Given the description of an element on the screen output the (x, y) to click on. 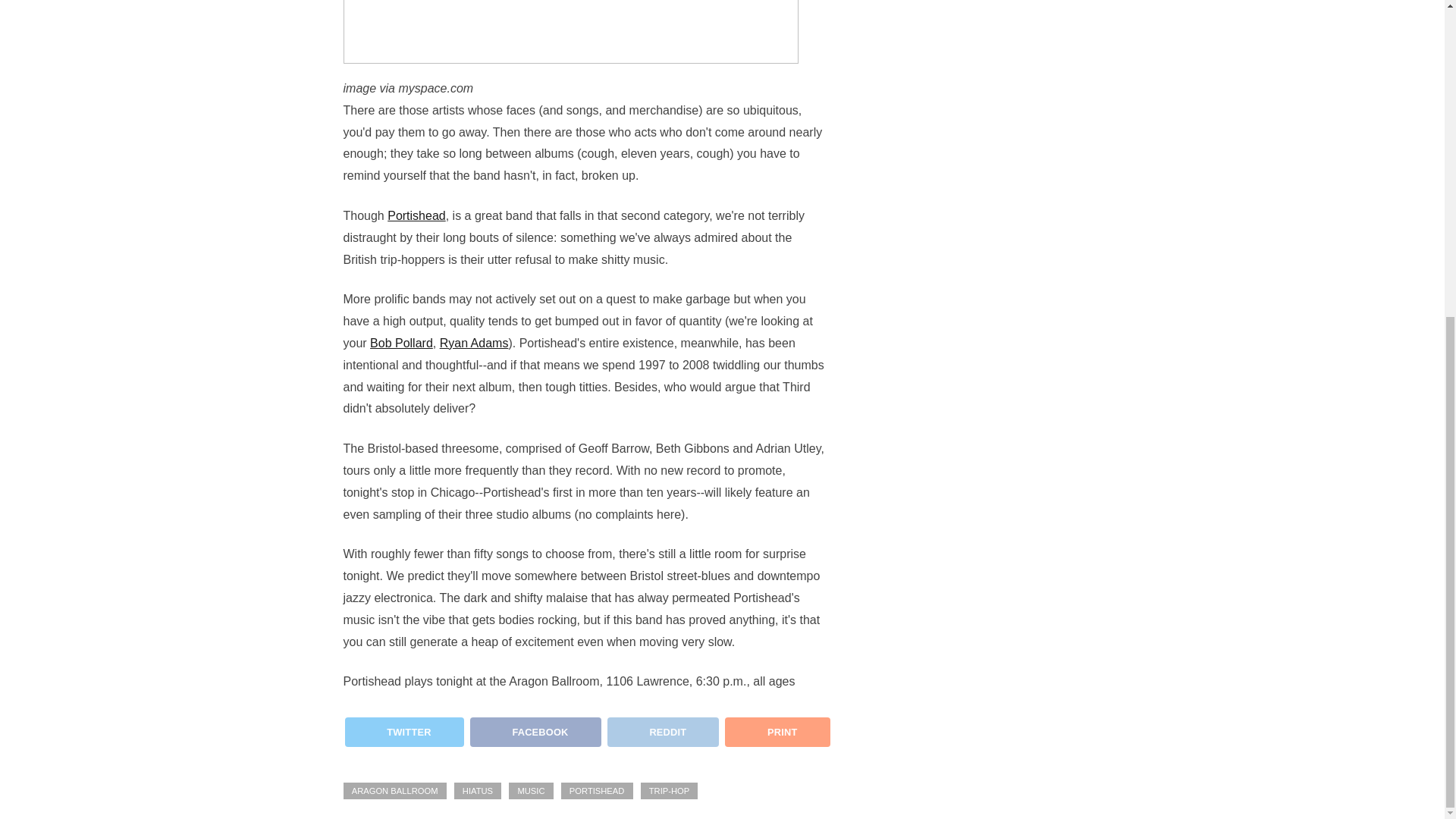
PRINT (775, 737)
HIATUS (478, 790)
Ryan Adams (473, 342)
REDDIT (663, 731)
TWITTER (401, 737)
REDDIT (661, 737)
TRIP-HOP (669, 790)
Portishead (416, 215)
PRINT (777, 731)
FACEBOOK (533, 737)
